Given the description of an element on the screen output the (x, y) to click on. 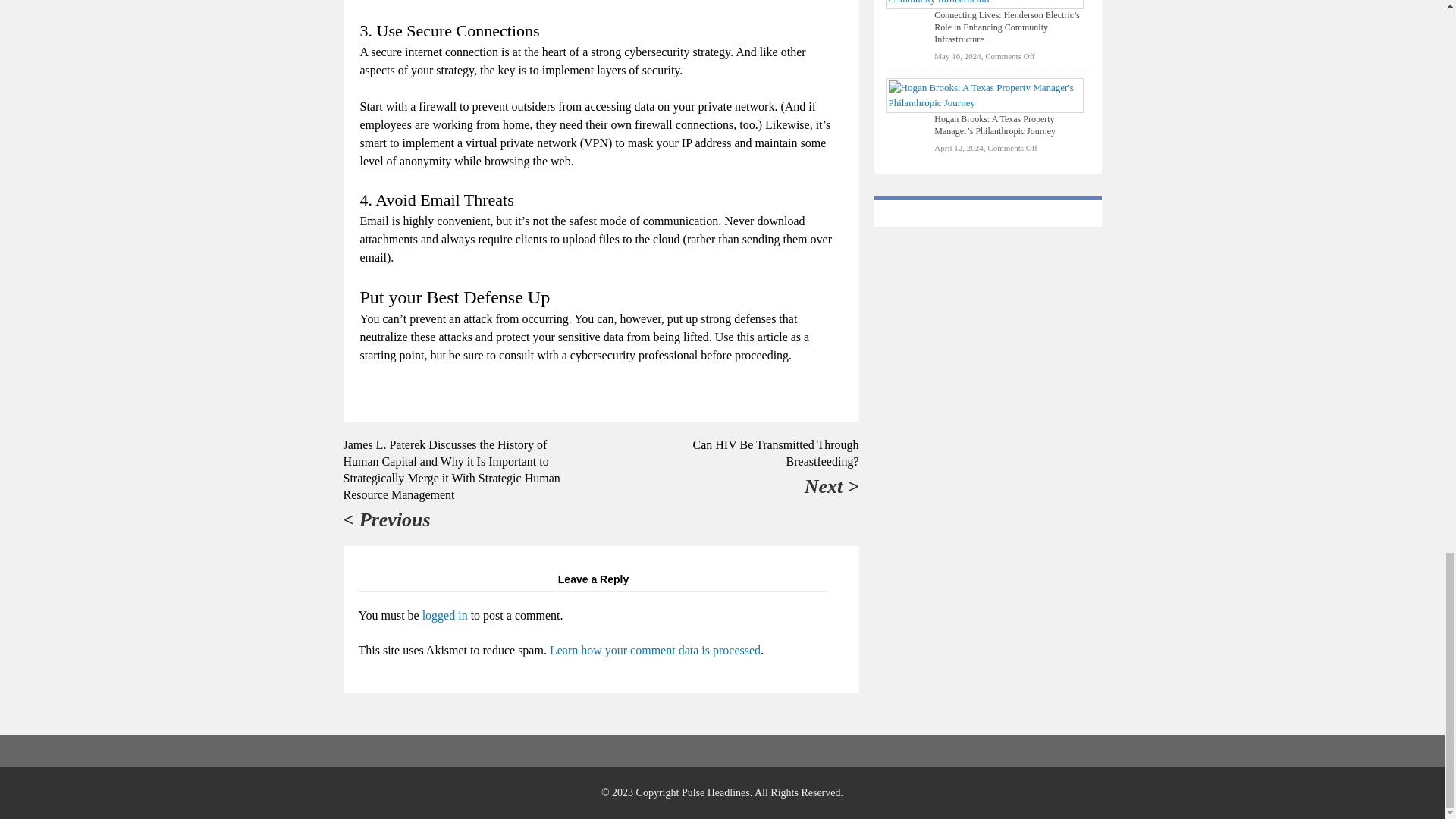
Can HIV Be Transmitted Through Breastfeeding? (776, 452)
logged in (444, 615)
Learn how your comment data is processed (655, 649)
